Given the description of an element on the screen output the (x, y) to click on. 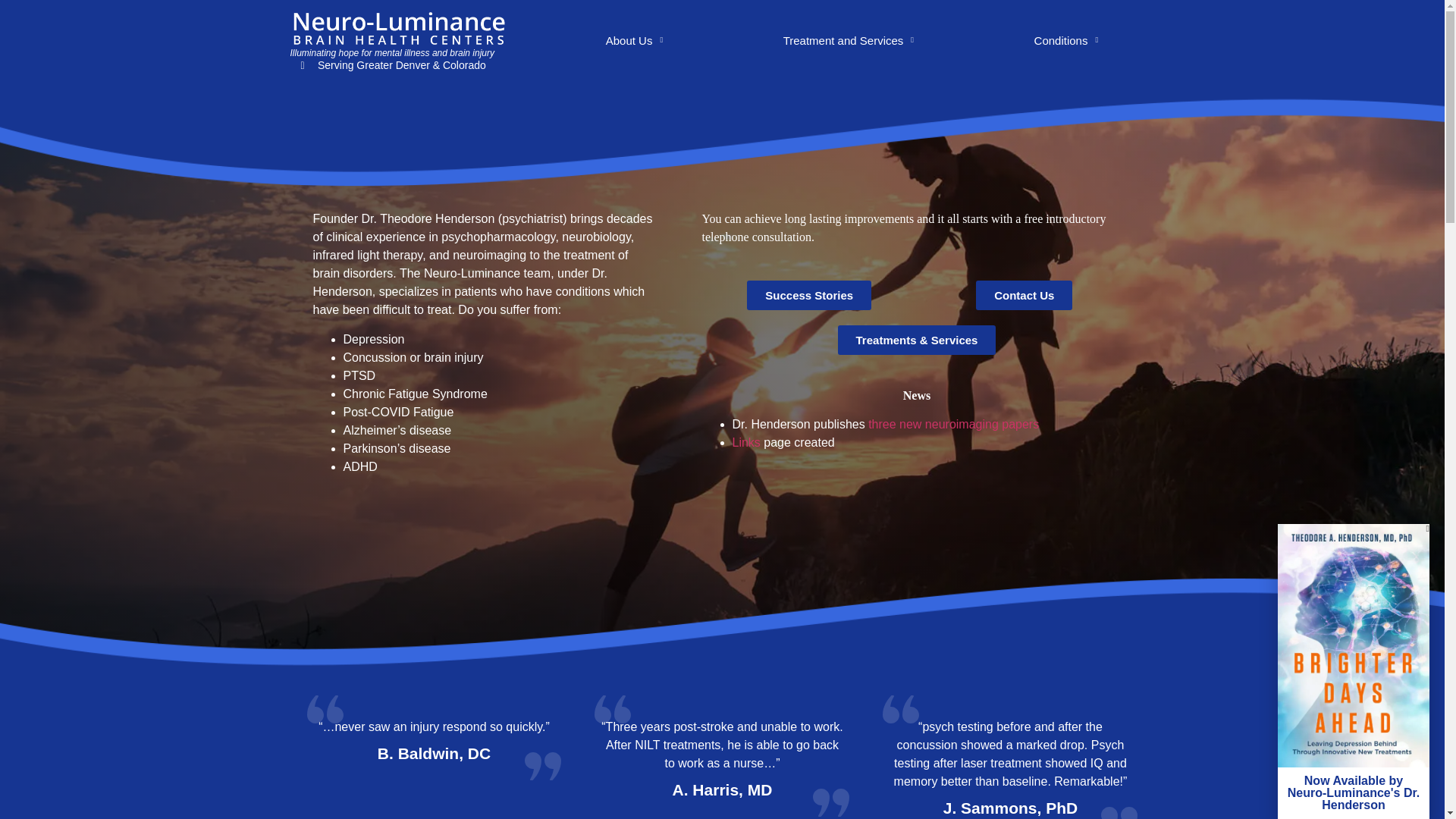
Treatment and Services (847, 40)
About Us (633, 40)
Conditions (1065, 40)
